Given the description of an element on the screen output the (x, y) to click on. 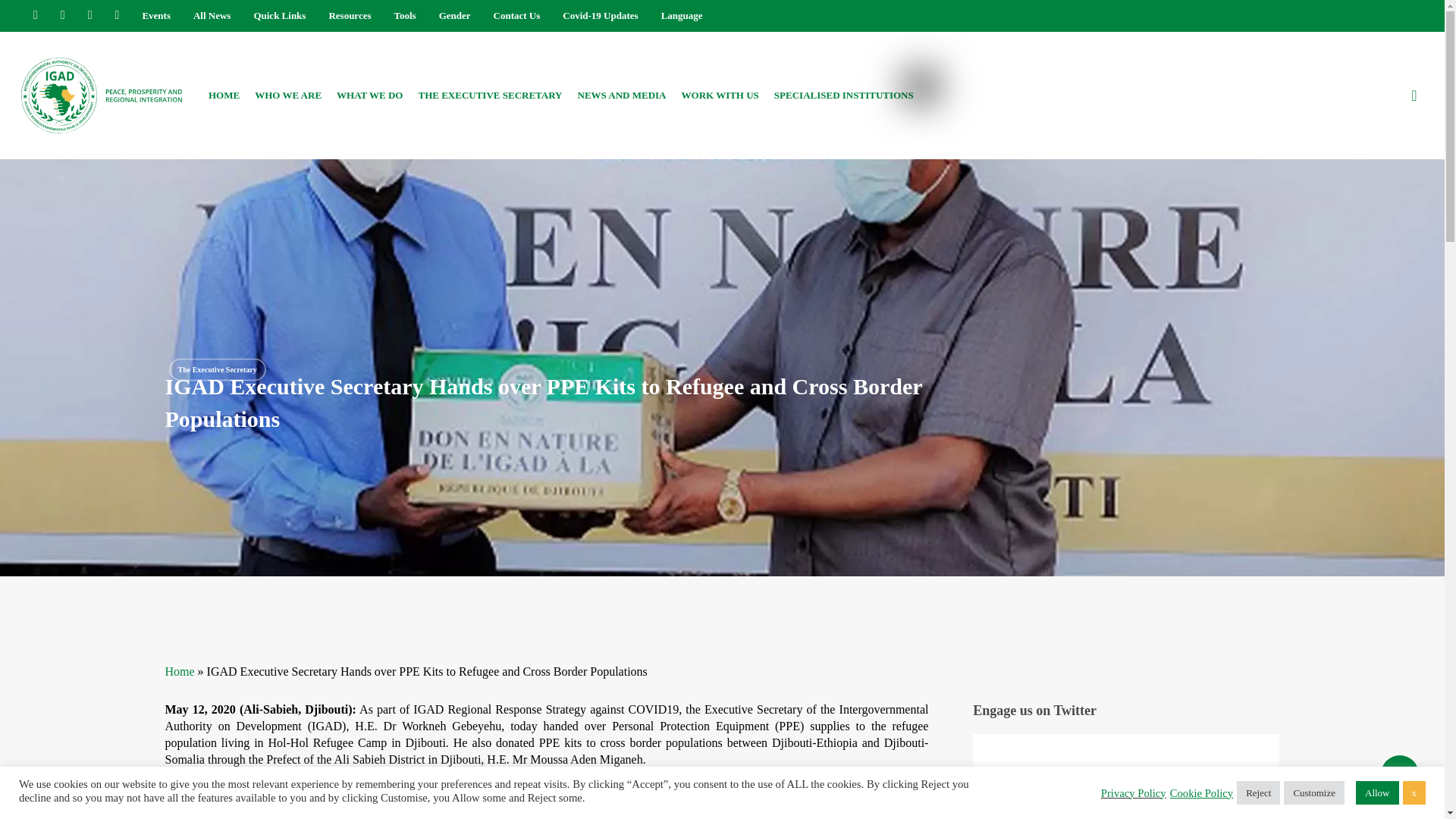
Amharic (930, 40)
Gender (454, 15)
French (930, 113)
Somali (930, 131)
Resources (350, 15)
Contact Us (516, 15)
Tools (405, 15)
Swahili (930, 149)
English (930, 95)
Covid-19 Updates (599, 15)
Events (155, 15)
Arabic (930, 58)
Quick Links (279, 15)
All News (211, 15)
Language (682, 15)
